Given the description of an element on the screen output the (x, y) to click on. 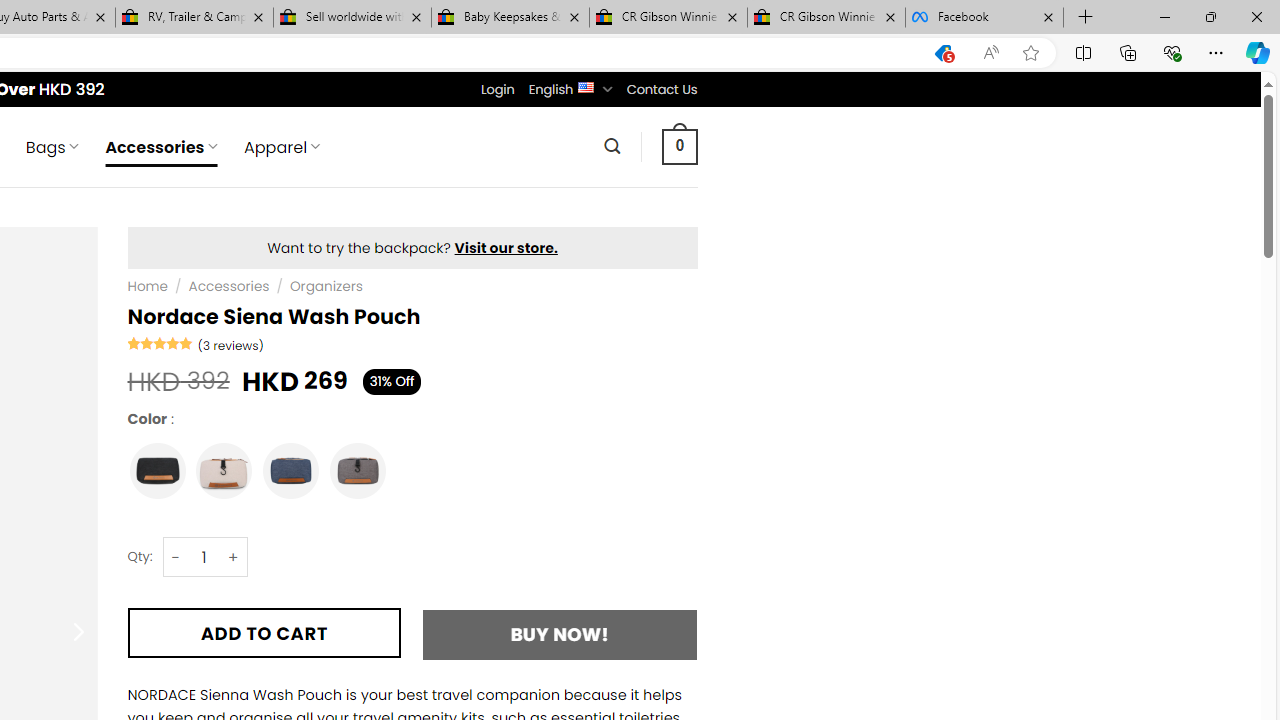
ADD TO CART (263, 632)
Baby Keepsakes & Announcements for sale | eBay (509, 17)
Login (497, 89)
Sell worldwide with eBay (352, 17)
Facebook (984, 17)
Visit our store. (506, 247)
